Given the description of an element on the screen output the (x, y) to click on. 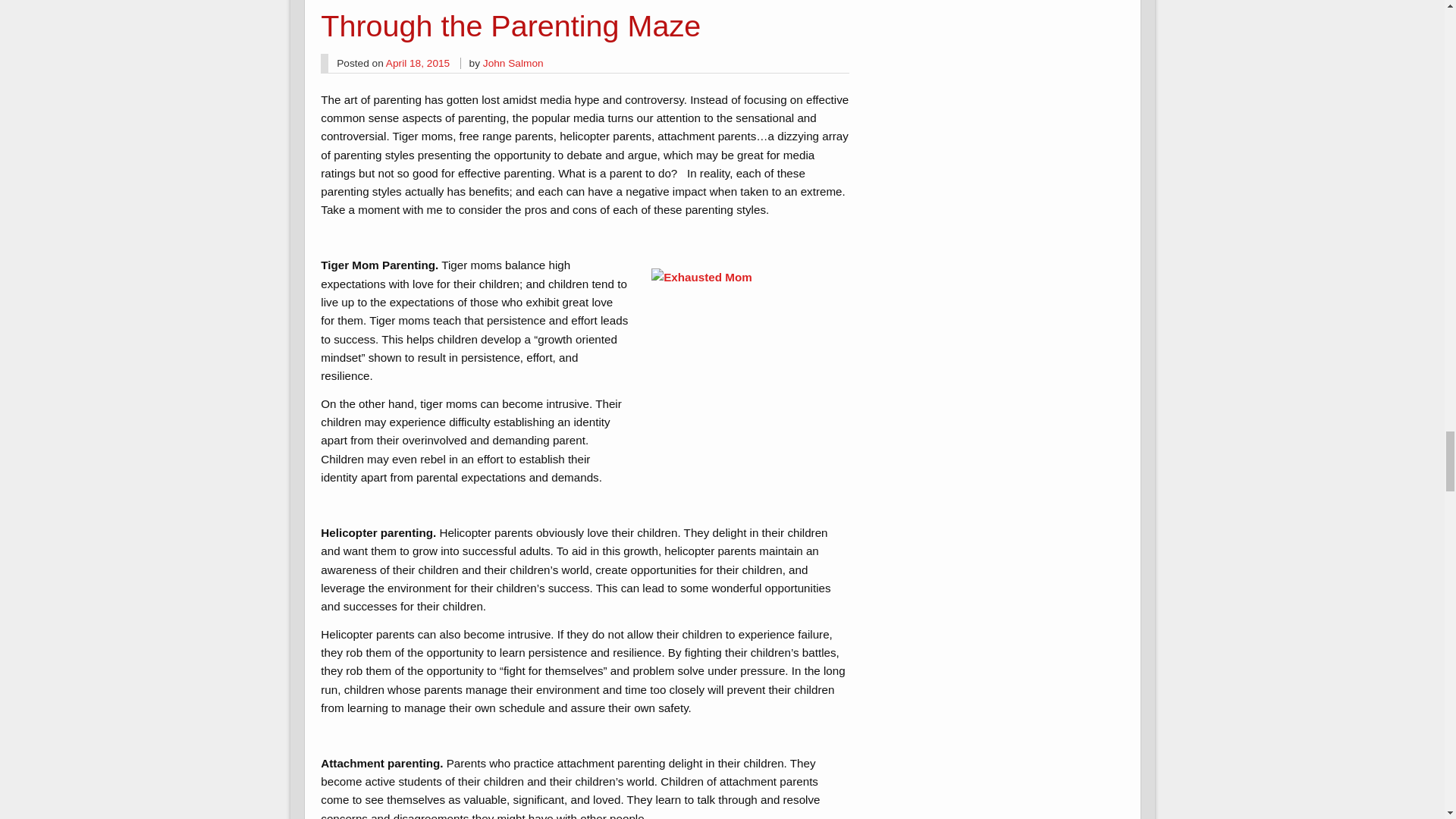
View all posts by John Salmon (513, 62)
5:36 pm (417, 62)
